Given the description of an element on the screen output the (x, y) to click on. 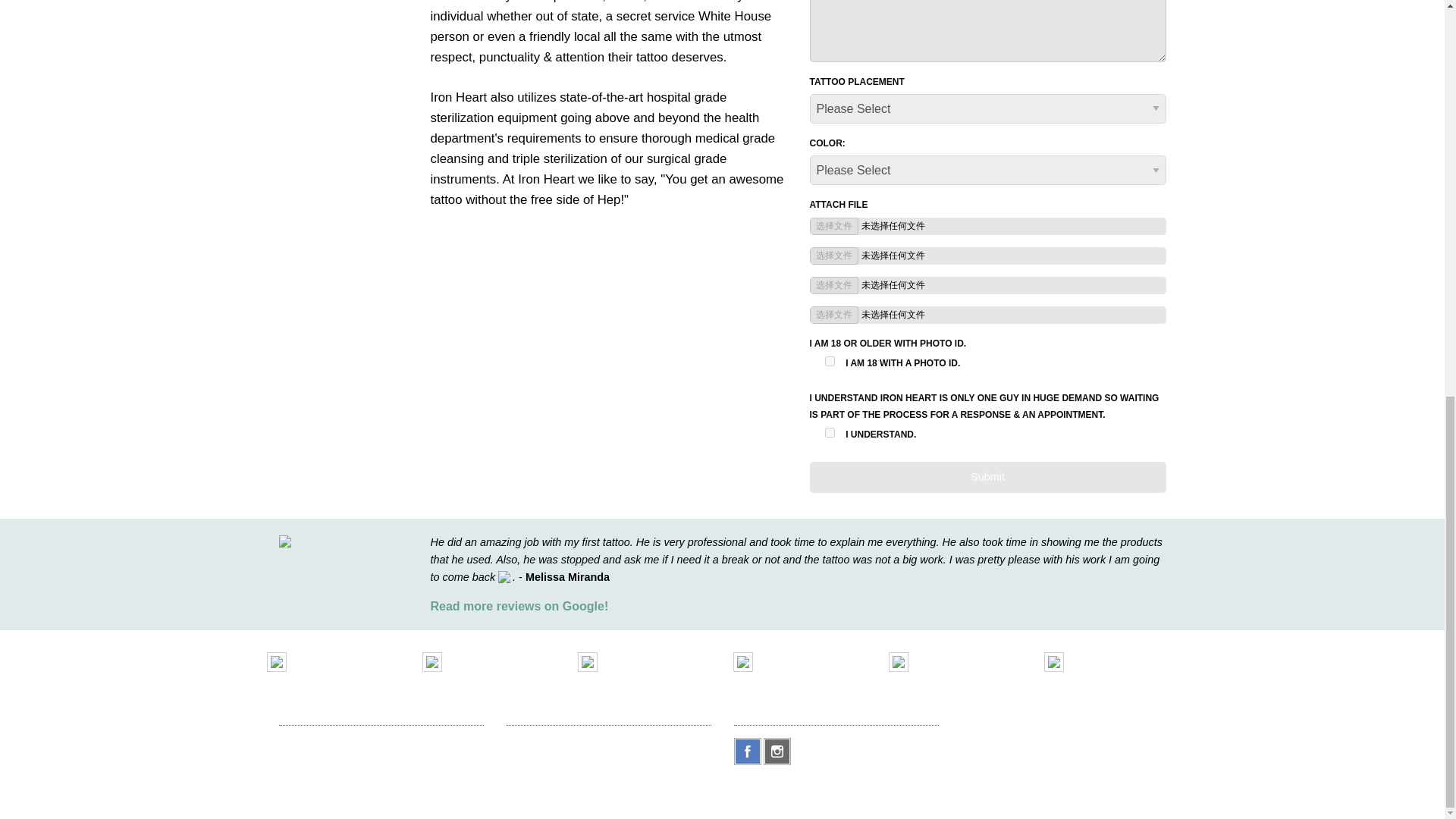
Read more reviews on Google! (519, 605)
Submit (987, 477)
Submit (987, 477)
I understand. (829, 432)
I am 18 with a photo ID. (829, 361)
